Given the description of an element on the screen output the (x, y) to click on. 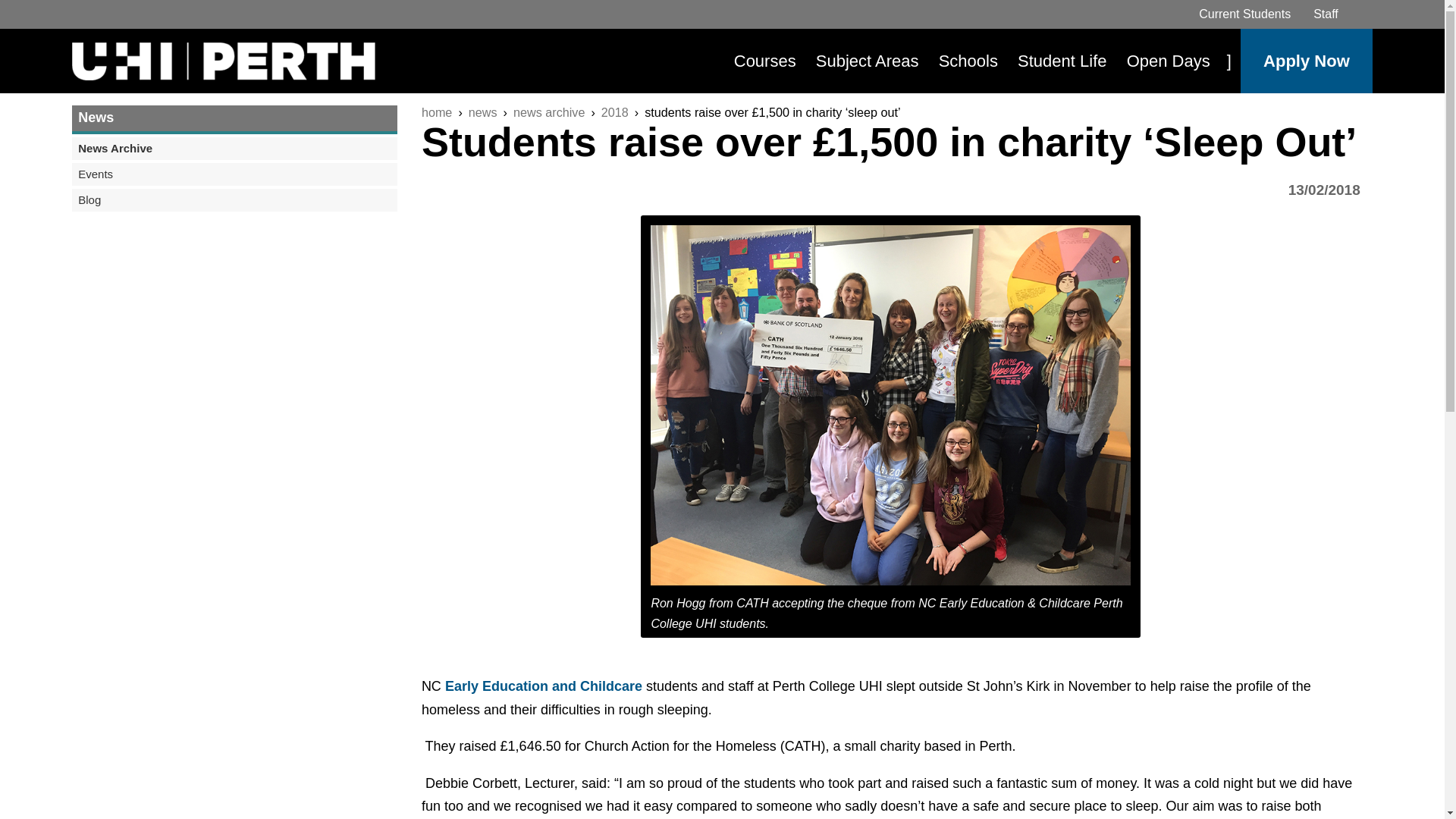
Schools (968, 60)
Apply Now (1305, 60)
UHI Perth Logo (223, 61)
news archive (549, 111)
Student Life (1061, 60)
Current Students (1244, 13)
2018 (614, 111)
news (482, 111)
Courses (764, 60)
Subject Areas (867, 60)
home (437, 111)
Staff (1325, 13)
Open Days (1168, 60)
